Given the description of an element on the screen output the (x, y) to click on. 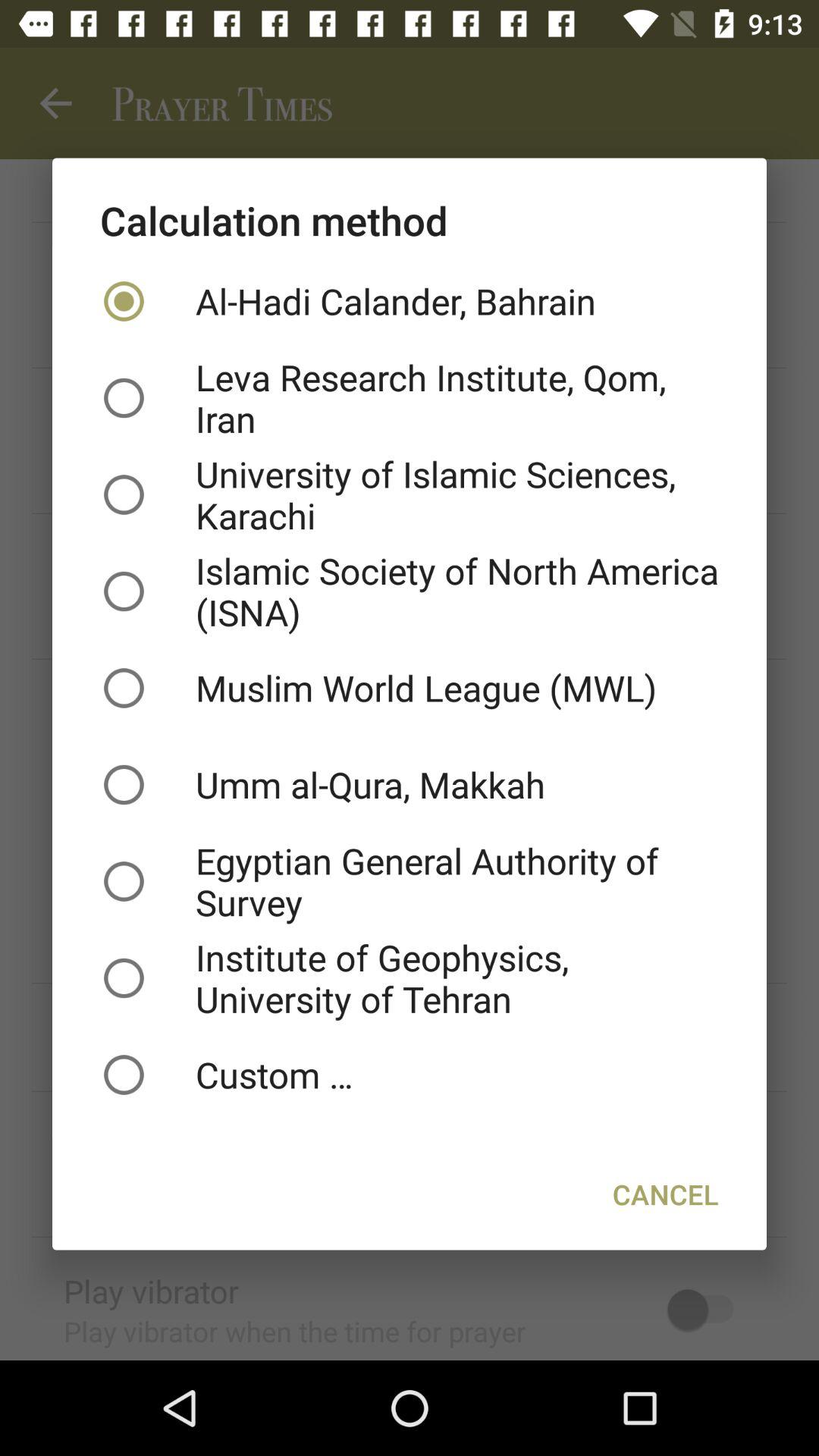
press button at the bottom right corner (665, 1194)
